Given the description of an element on the screen output the (x, y) to click on. 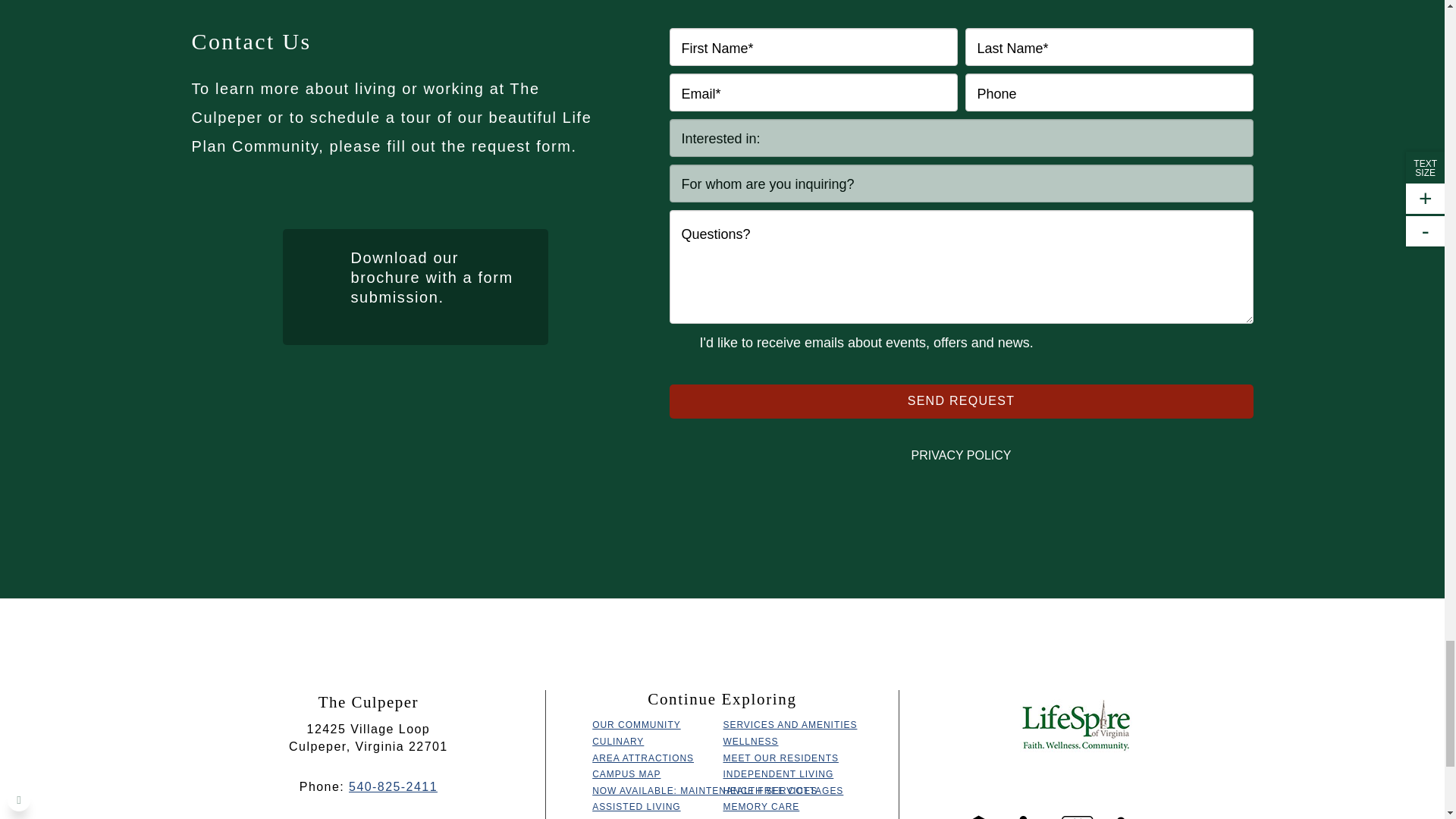
Send Request (960, 401)
PRIVACY POLICY (960, 455)
Send Request (960, 401)
540-825-2411 (393, 786)
